Given the description of an element on the screen output the (x, y) to click on. 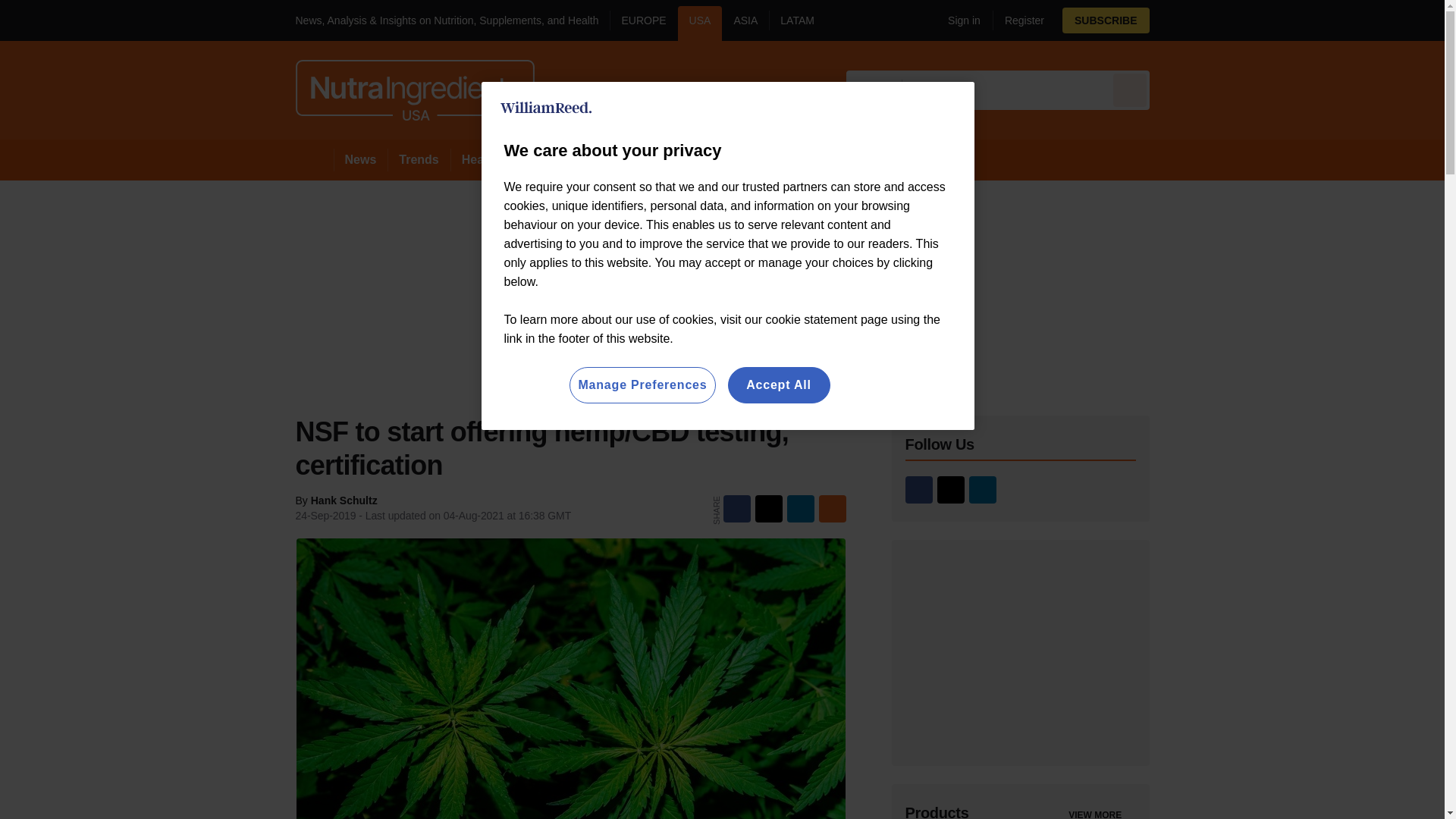
News (360, 159)
Home (314, 159)
Register (1017, 20)
Send (1129, 89)
Home (313, 159)
William Reed (545, 107)
EUROPE (643, 22)
My account (1042, 20)
Sign in (957, 20)
Trends (418, 159)
Sign out (961, 20)
SUBSCRIBE (1148, 20)
3rd party ad content (1020, 652)
LATAM (796, 22)
